Given the description of an element on the screen output the (x, y) to click on. 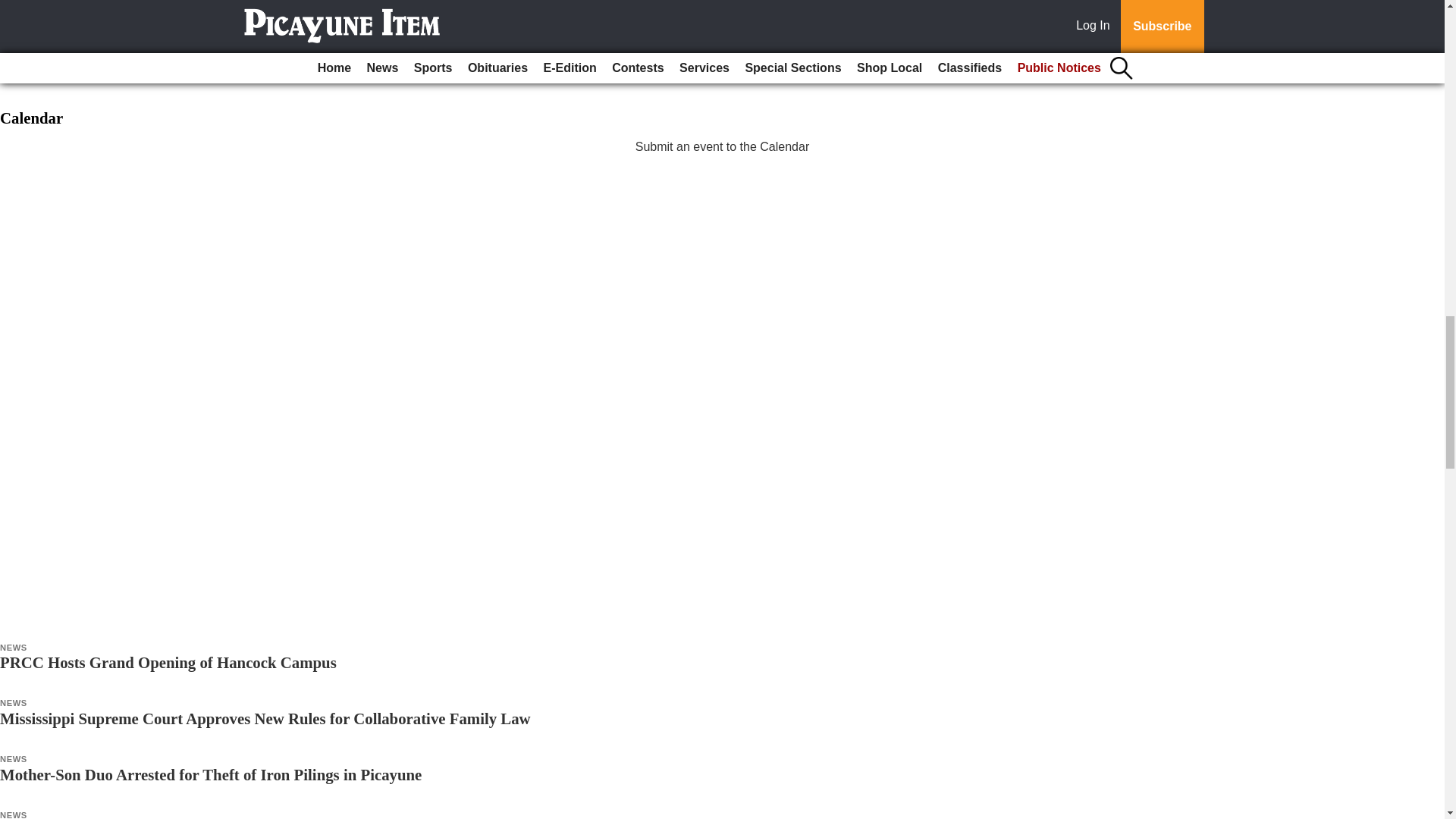
Submit an event to the Calendar (721, 146)
PRCC Hosts Grand Opening of Hancock Campus (168, 661)
PRCC Hosts Grand Opening of Hancock Campus (168, 661)
